Given the description of an element on the screen output the (x, y) to click on. 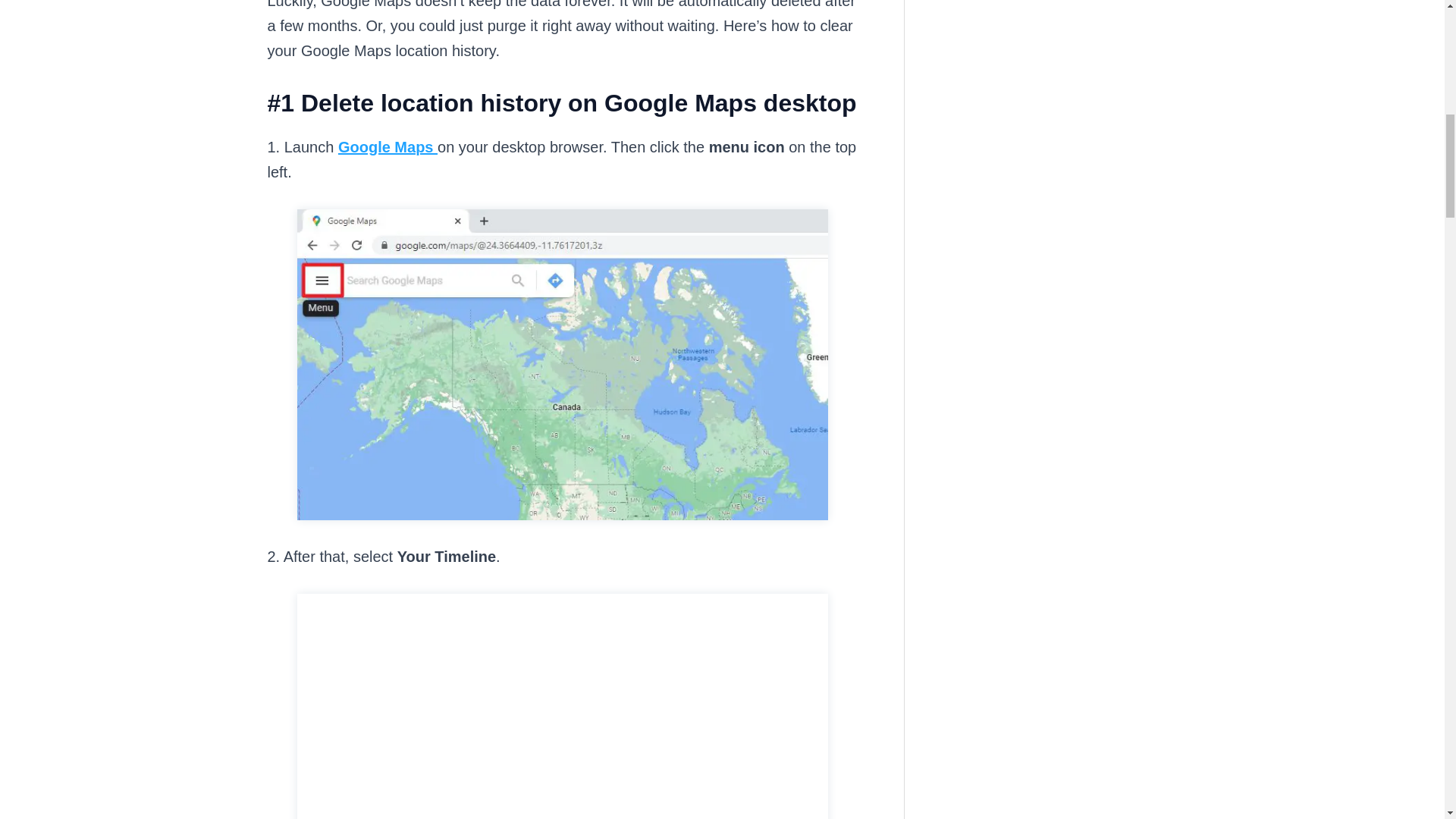
Google Maps (387, 146)
